Given the description of an element on the screen output the (x, y) to click on. 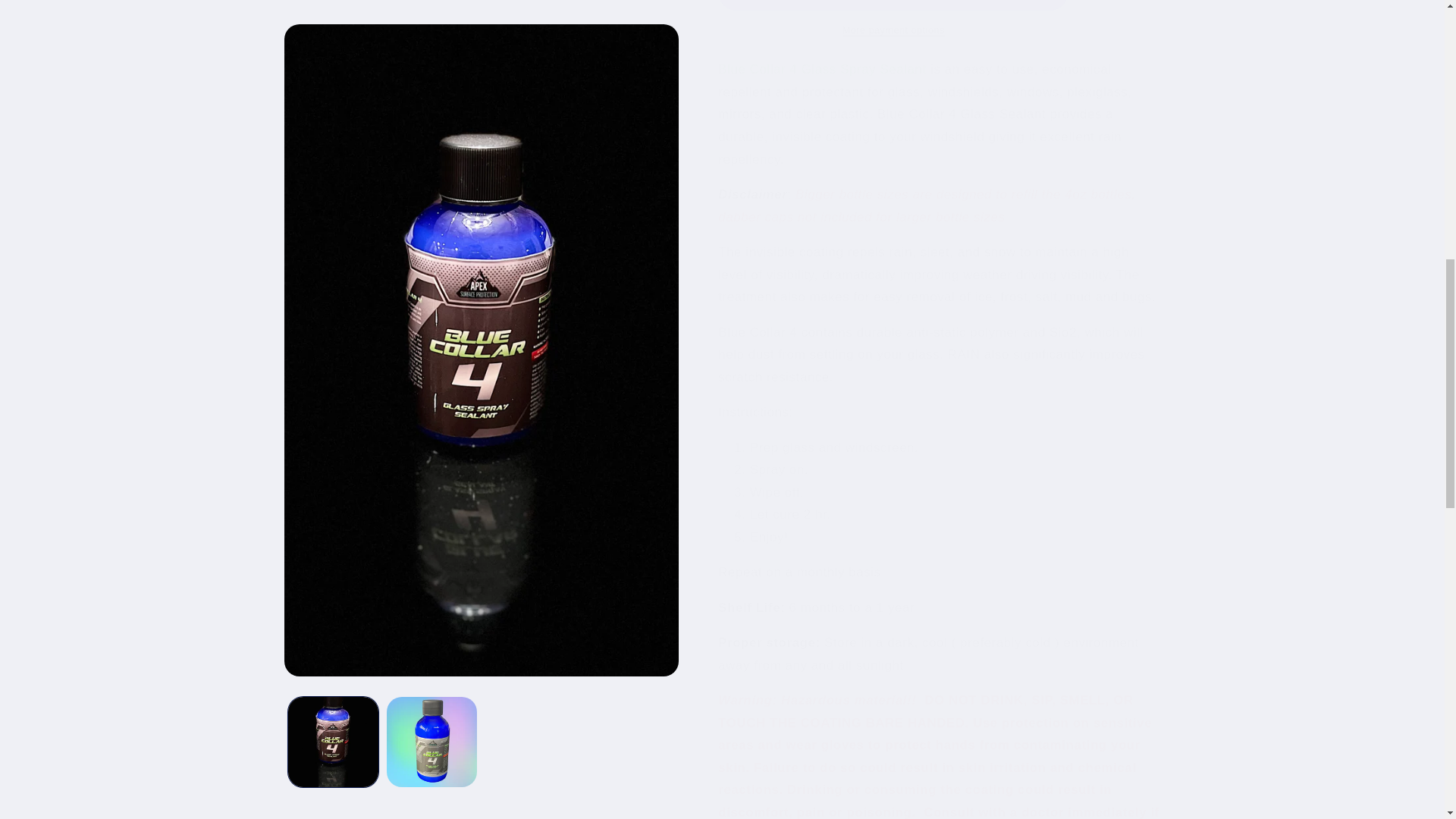
More payment options (892, 18)
Open media 1 in modal (480, 36)
